Given the description of an element on the screen output the (x, y) to click on. 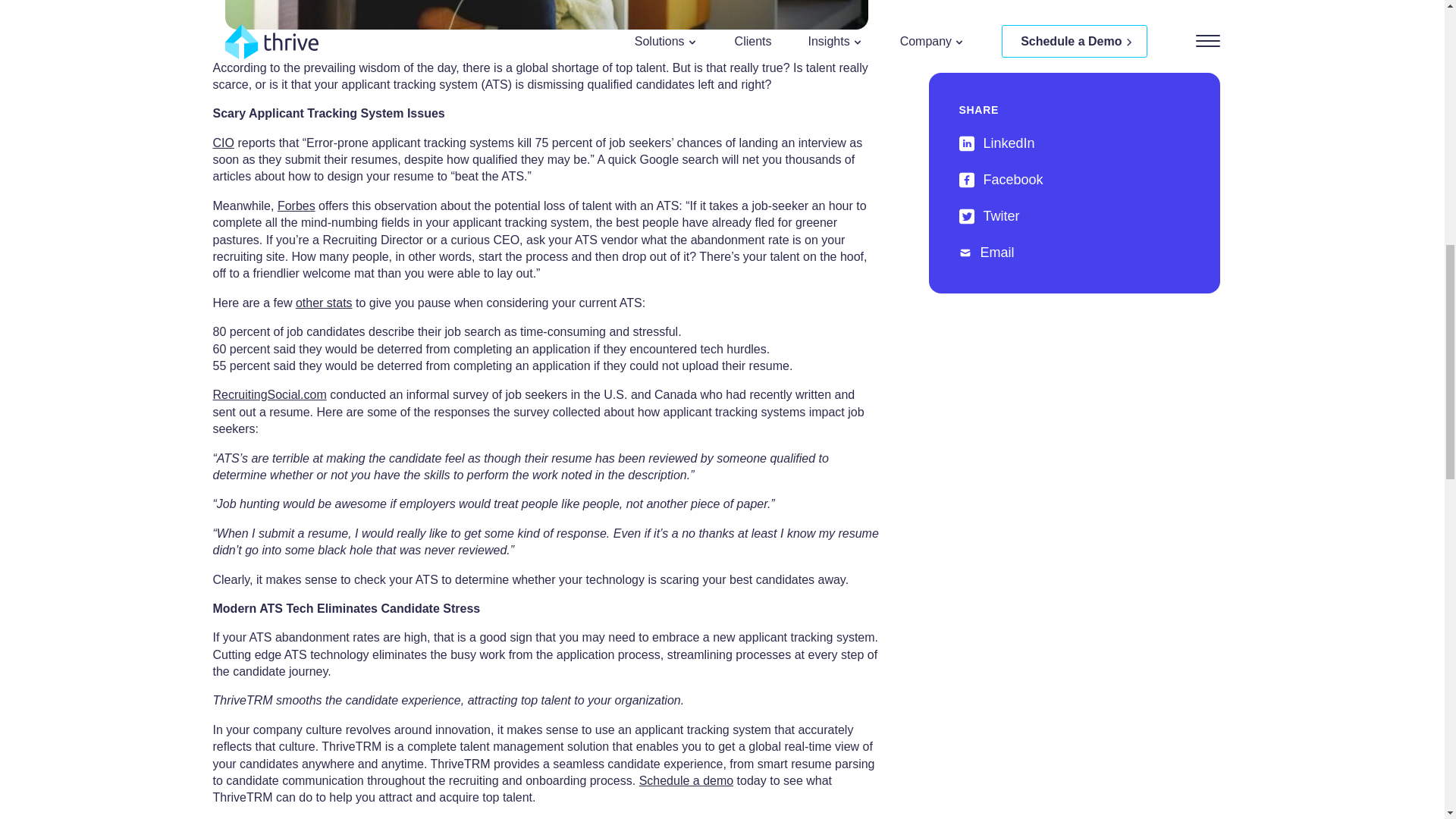
Schedule a demo (686, 780)
RecruitingSocial.com (269, 394)
CIO (222, 142)
Forbes (296, 205)
other stats (323, 302)
